Given the description of an element on the screen output the (x, y) to click on. 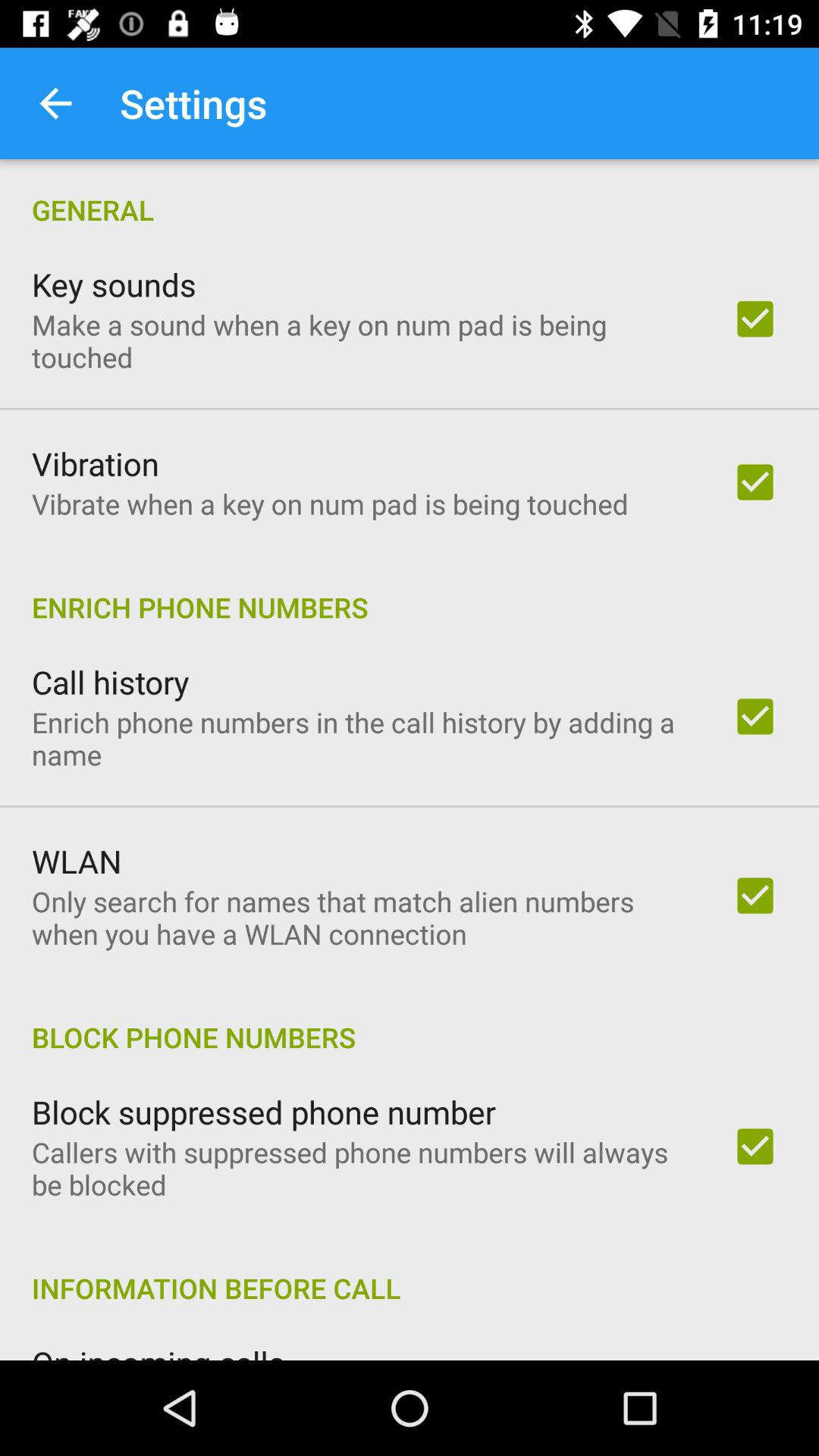
select icon below the block suppressed phone item (361, 1168)
